Given the description of an element on the screen output the (x, y) to click on. 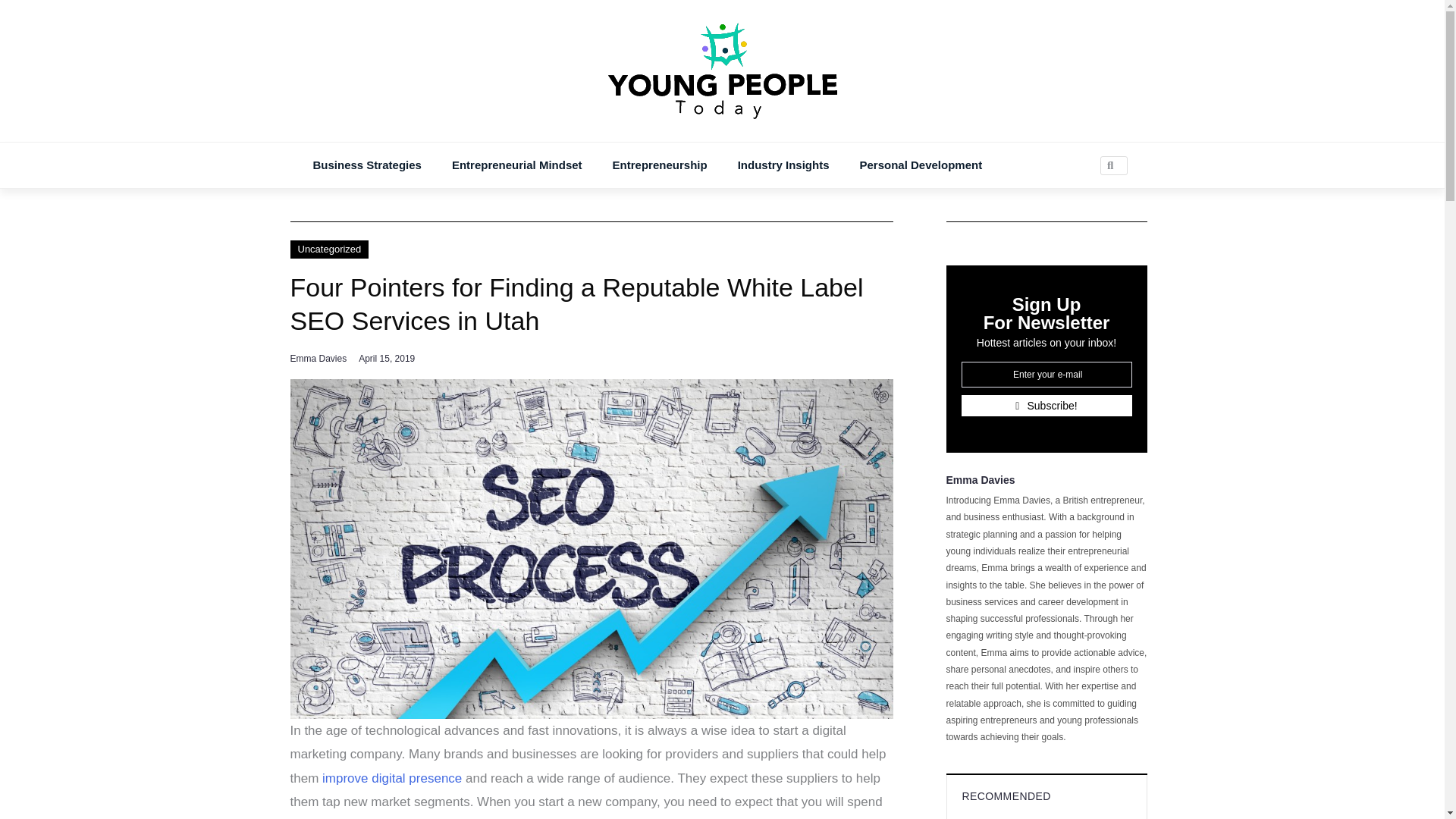
Uncategorized (329, 248)
improve digital presence (391, 778)
Emma Davies (317, 358)
Entrepreneurship (659, 165)
April 15, 2019 (386, 358)
Personal Development (920, 165)
Subscribe! (1046, 405)
Entrepreneurial Mindset (516, 165)
Business Strategies (366, 165)
Industry Insights (783, 165)
